Given the description of an element on the screen output the (x, y) to click on. 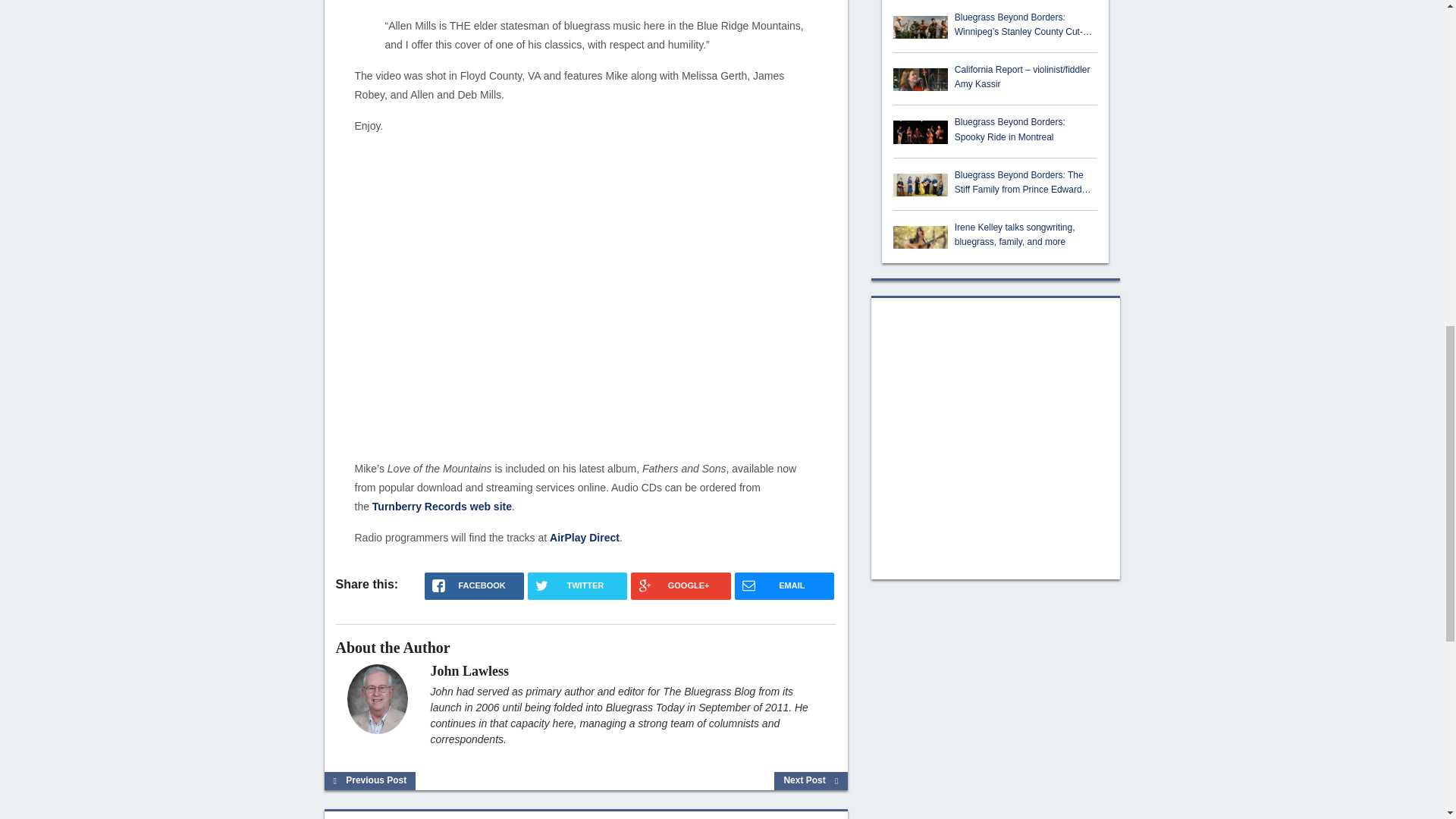
AirPlay Direct (585, 537)
FACEBOOK (474, 585)
TWITTER (577, 585)
Turnberry Records web site (442, 506)
Love Of The Mountains (586, 295)
